Given the description of an element on the screen output the (x, y) to click on. 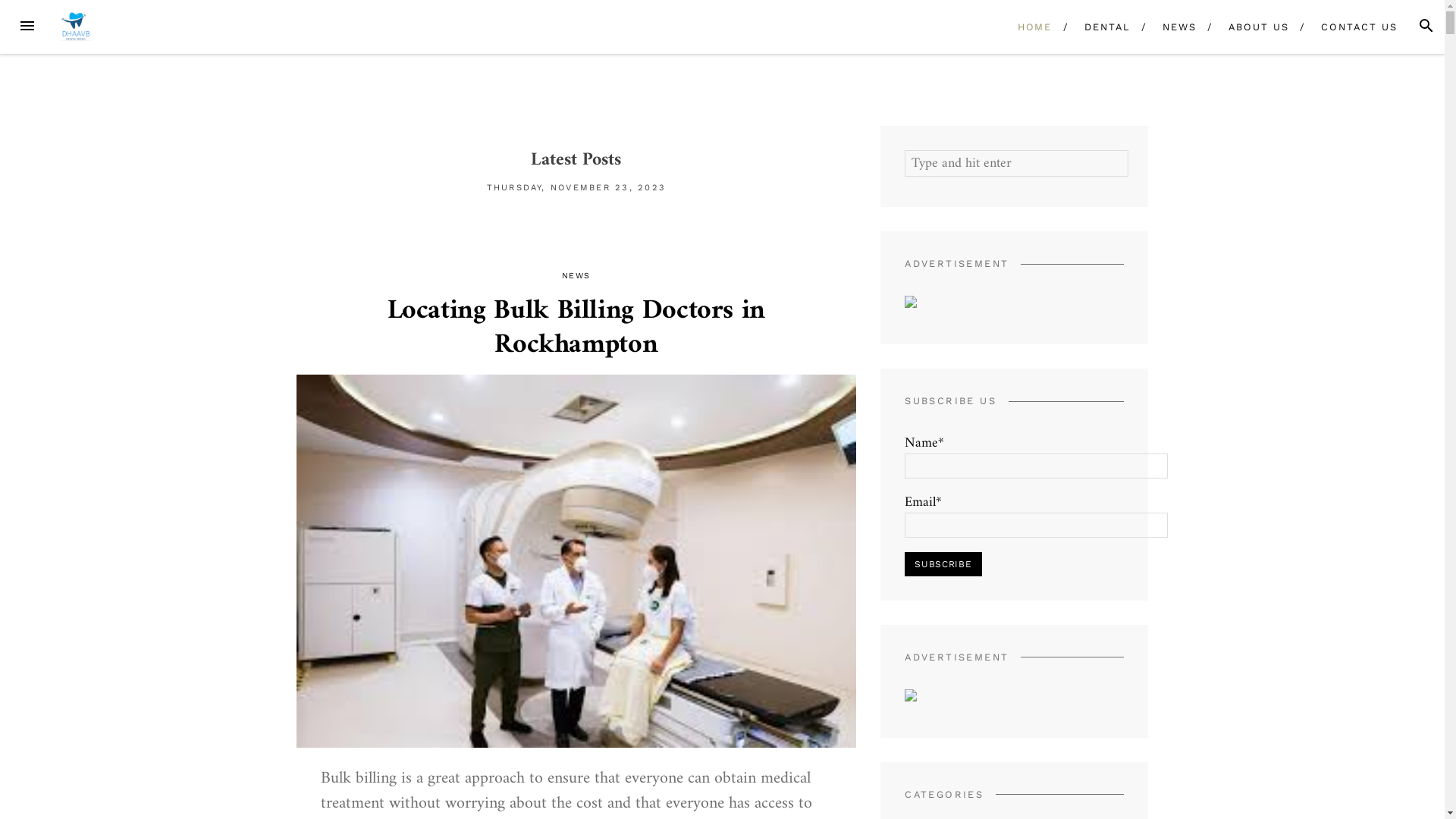
SEARCH Element type: text (1426, 25)
NEWS Element type: text (1179, 26)
Search for: Element type: hover (1016, 163)
Locating Bulk Billing Doctors in Rockhampton Element type: text (576, 328)
MENU Element type: text (27, 25)
DENTAL Element type: text (1107, 26)
CONTACT US Element type: text (1359, 26)
NEWS Element type: text (575, 275)
ABOUT US Element type: text (1258, 26)
Subscribe Element type: text (942, 564)
HOME Element type: text (1034, 26)
Search Element type: text (29, 12)
